Given the description of an element on the screen output the (x, y) to click on. 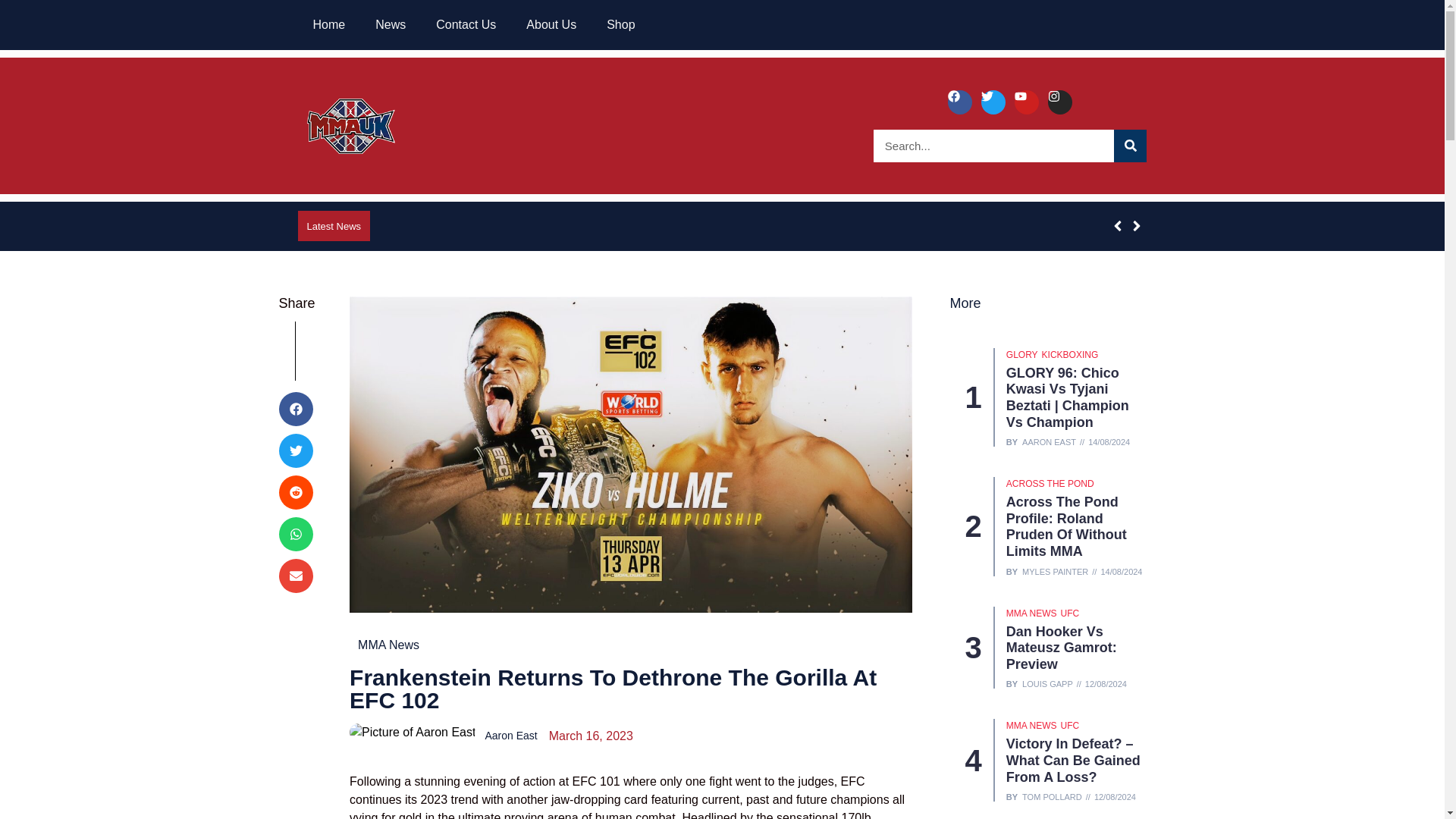
Contact Us (465, 24)
Across The Pond Profile: Roland Pruden of Without Limits MMA (1066, 526)
About Us (551, 24)
News (389, 24)
Dan Hooker vs Mateusz Gamrot: Preview (1061, 647)
Home (328, 24)
Shop (620, 24)
